Given the description of an element on the screen output the (x, y) to click on. 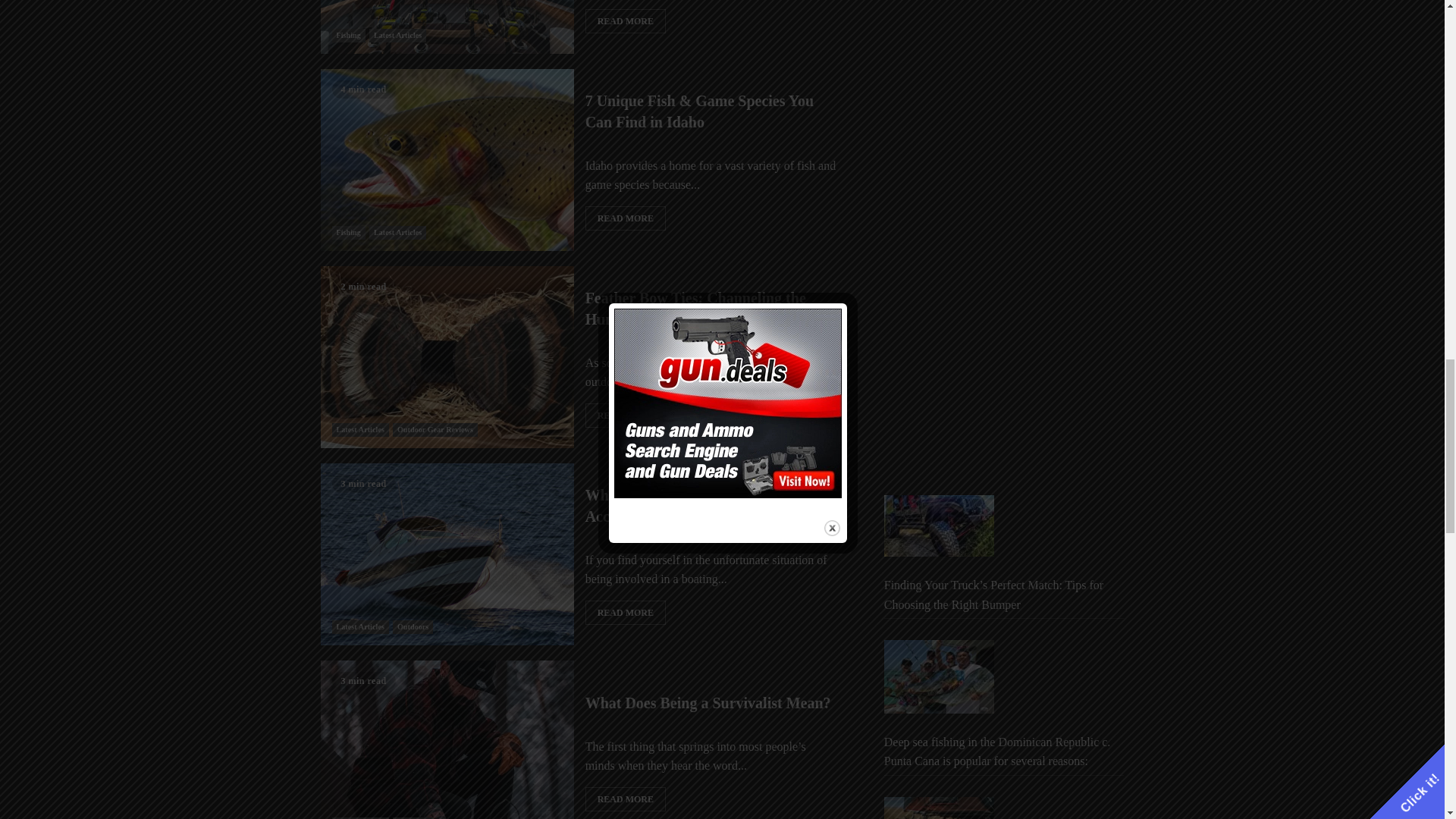
Fishing (348, 35)
